Given the description of an element on the screen output the (x, y) to click on. 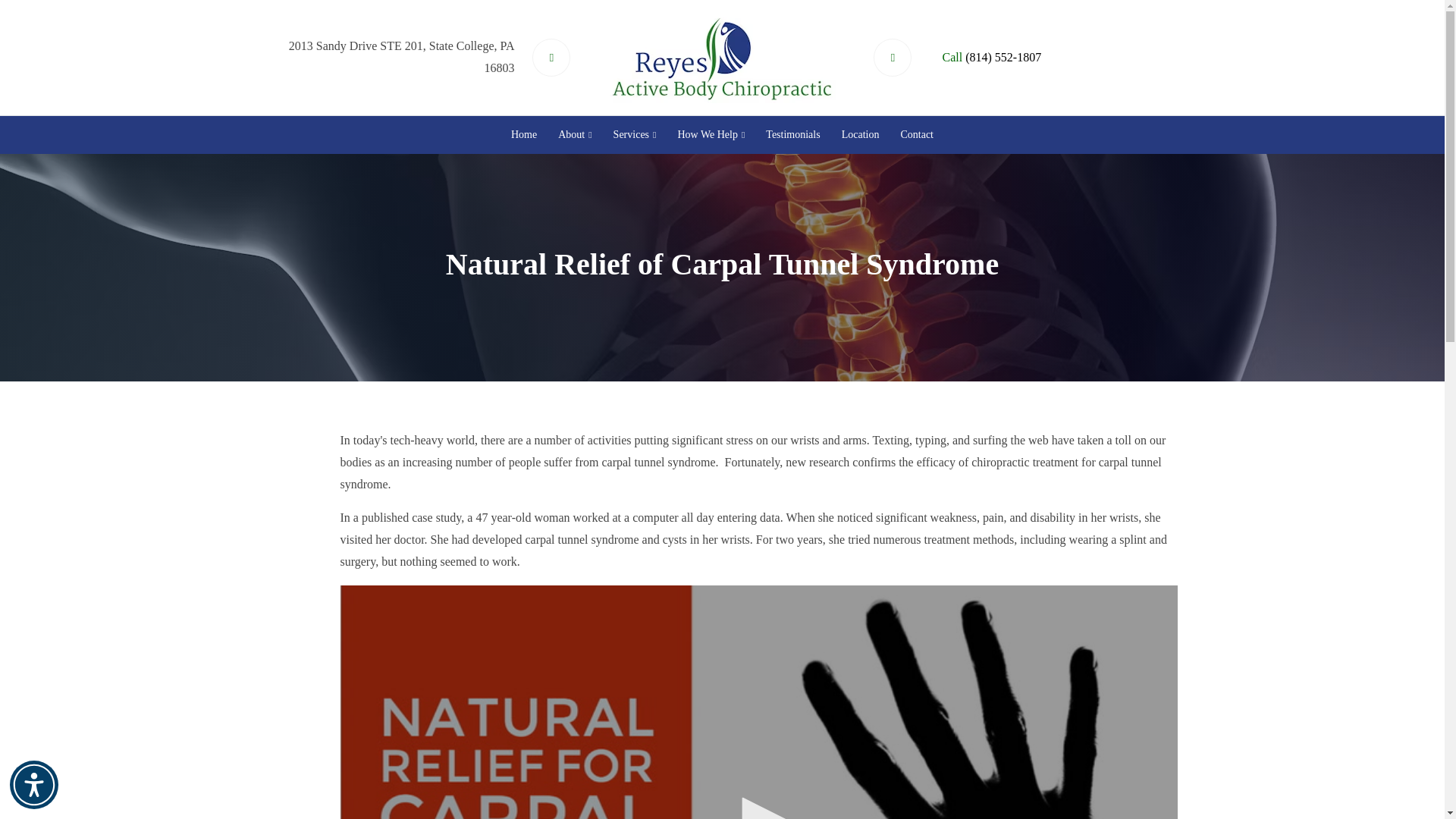
Location (860, 134)
Home (524, 134)
About (573, 134)
Testimonials (792, 134)
Contact (916, 134)
Accessibility Menu (34, 784)
How We Help (711, 134)
Services (634, 134)
